Given the description of an element on the screen output the (x, y) to click on. 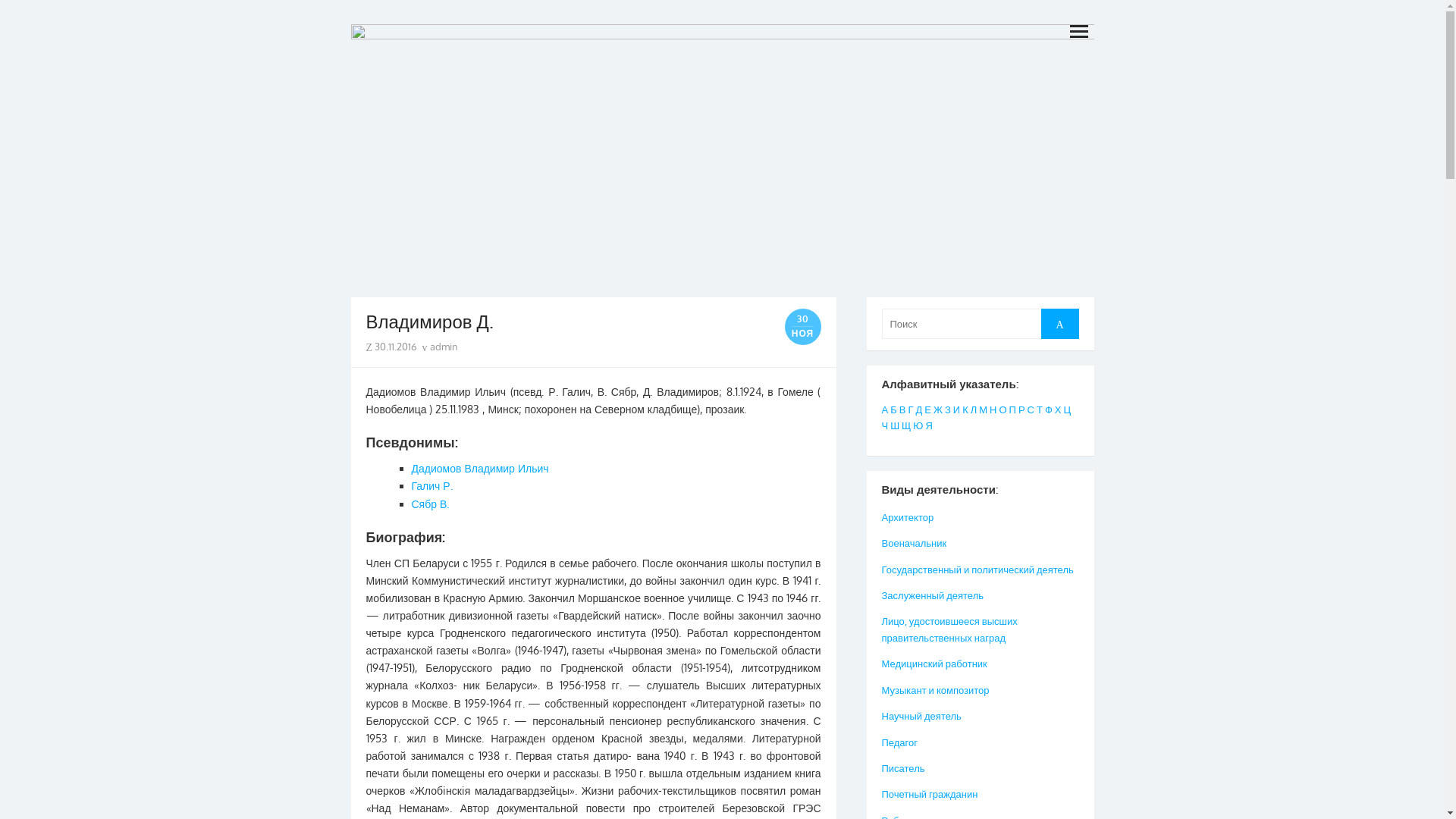
Search Element type: text (1059, 323)
admin Element type: text (440, 346)
Skip to content Element type: text (350, 0)
30.11.2016 Element type: text (395, 346)
open menu Element type: text (1078, 30)
